Given the description of an element on the screen output the (x, y) to click on. 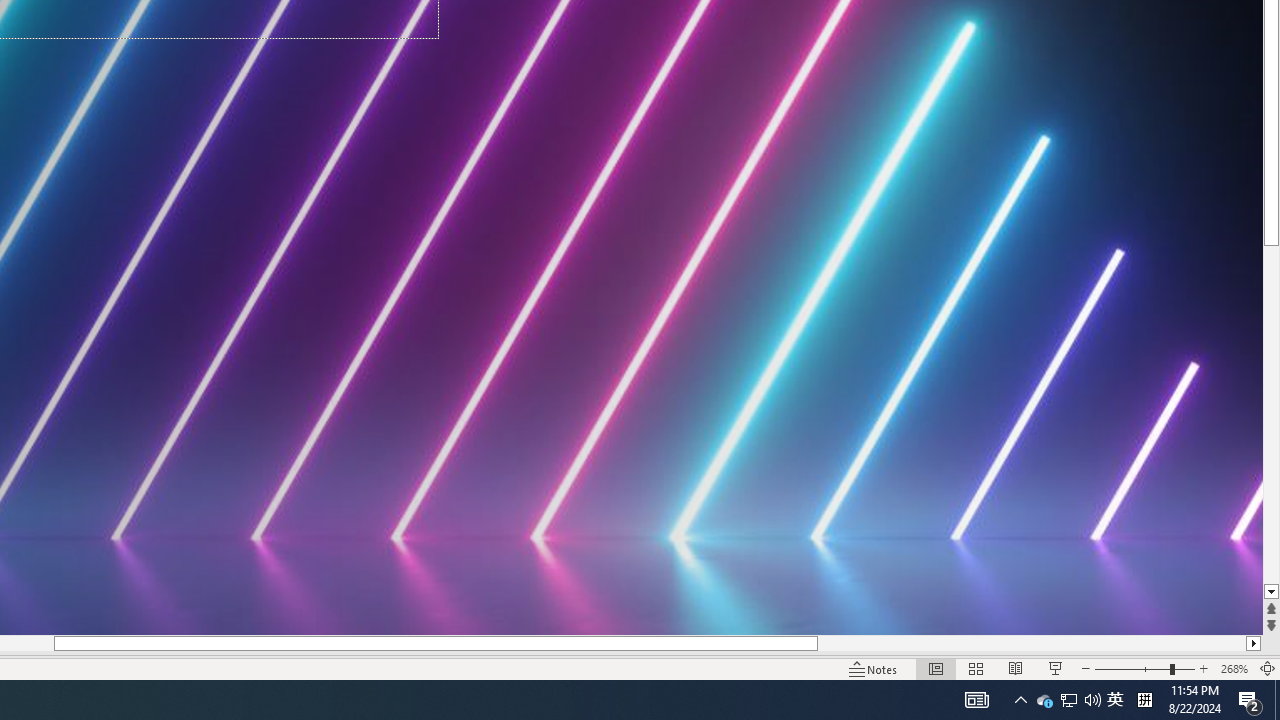
Zoom 268% (1234, 668)
